Given the description of an element on the screen output the (x, y) to click on. 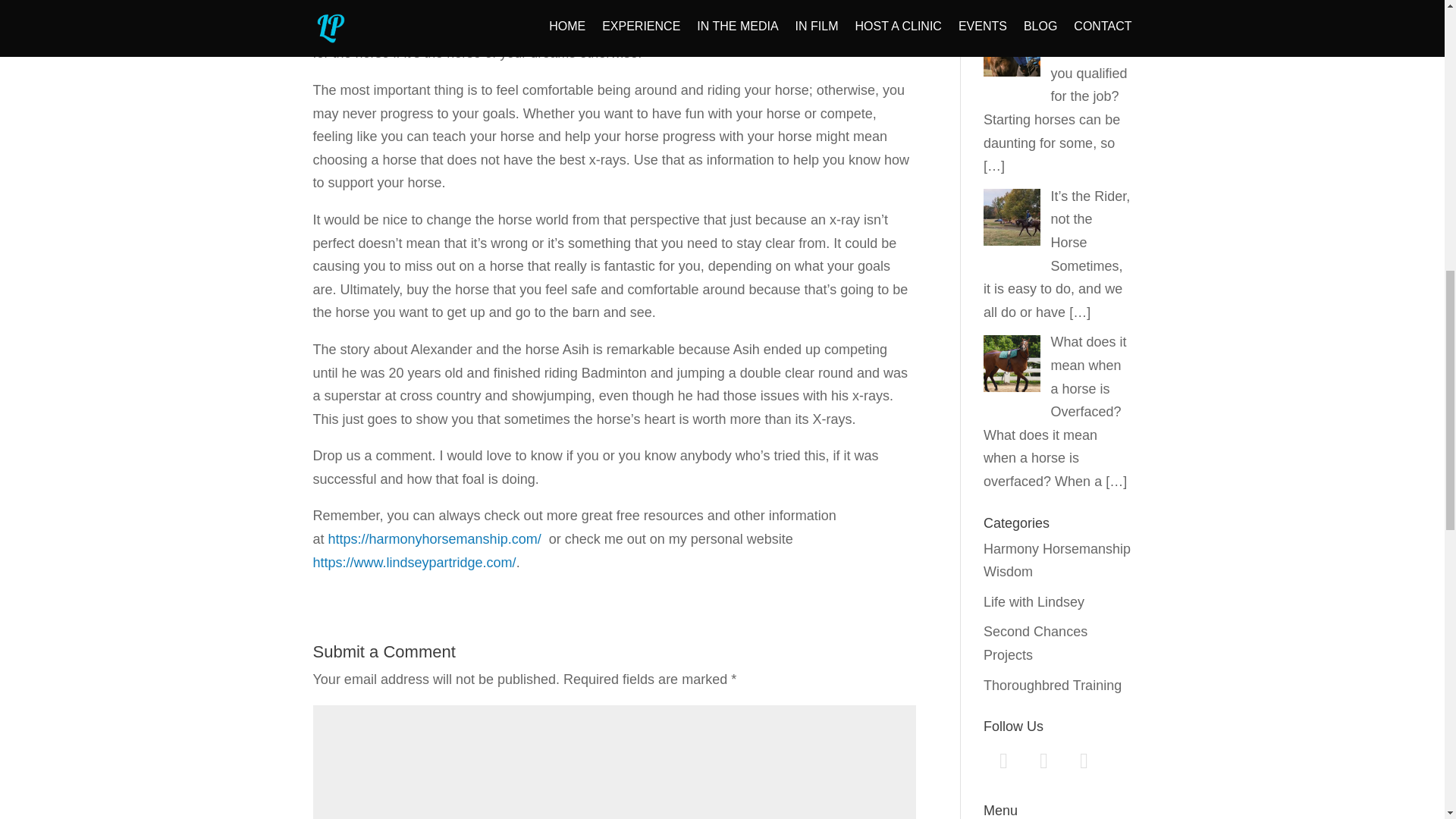
Facebook (1043, 759)
facebook (1043, 759)
Default Label (1083, 759)
Life with Lindsey (1034, 601)
Harmony Horsemanship Wisdom (1057, 560)
Second Chances Projects (1035, 643)
youtube (1083, 759)
Thoroughbred Training (1052, 685)
twitter (1003, 759)
What does it mean when a horse is Overfaced? (1088, 376)
Twitter (1003, 759)
